Given the description of an element on the screen output the (x, y) to click on. 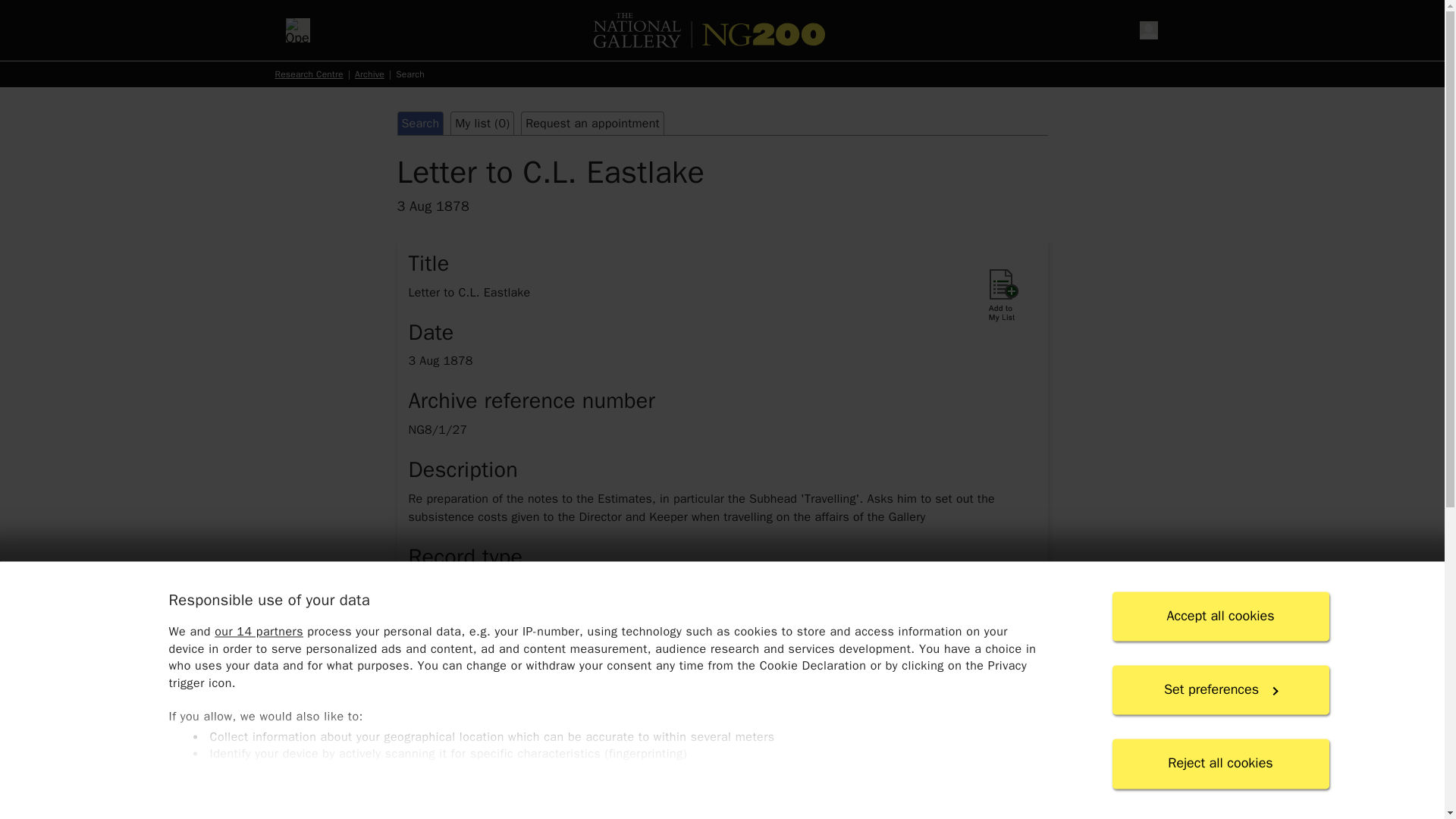
details section (720, 774)
our 14 partners (258, 631)
